Given the description of an element on the screen output the (x, y) to click on. 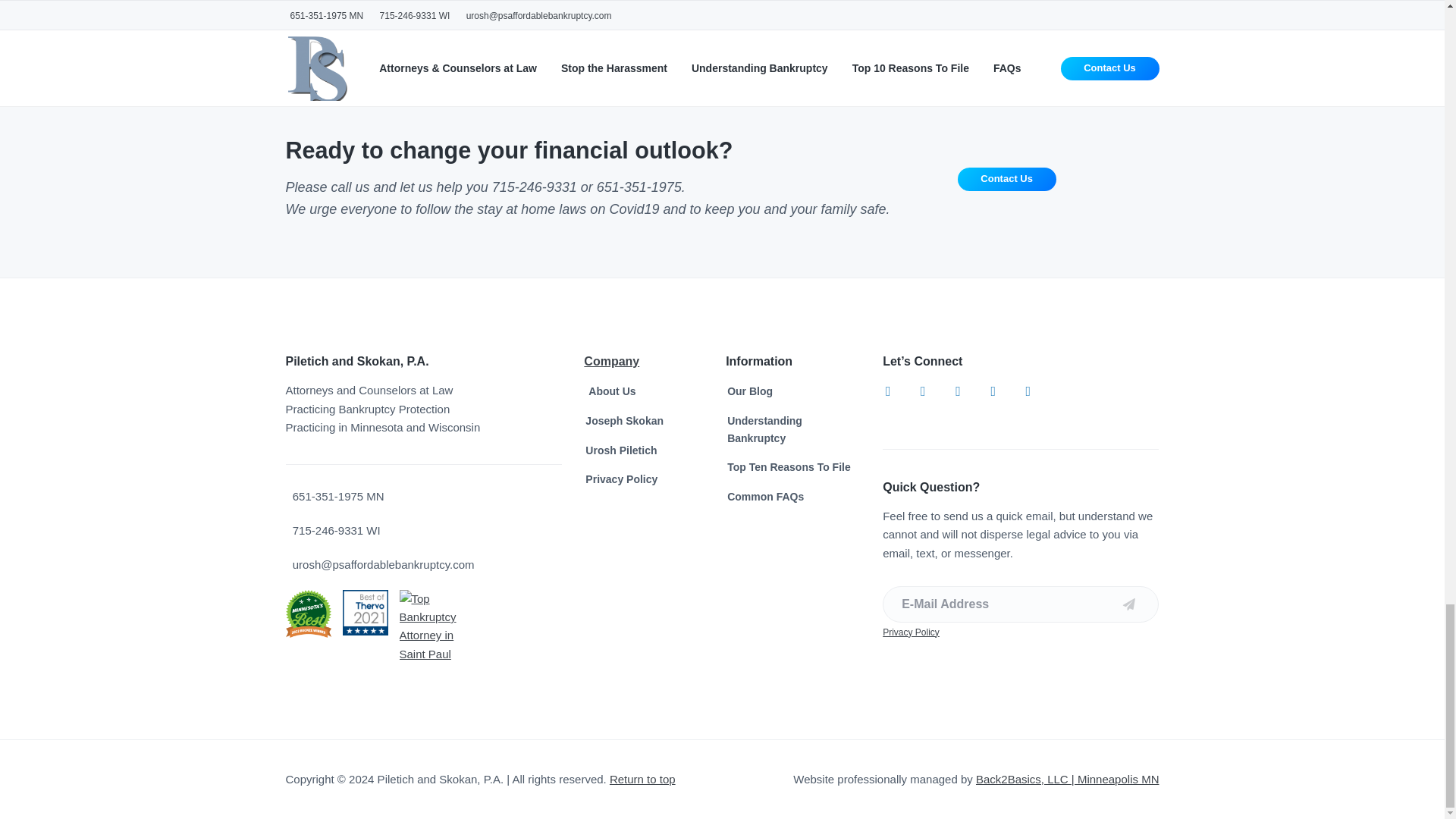
Stay Connected (1092, 604)
Learn how your comment data is processed (695, 5)
Company (611, 360)
Default Label (957, 390)
Twitter (923, 390)
Default Label (992, 390)
Facebook (888, 390)
Contact Us (1007, 178)
